Given the description of an element on the screen output the (x, y) to click on. 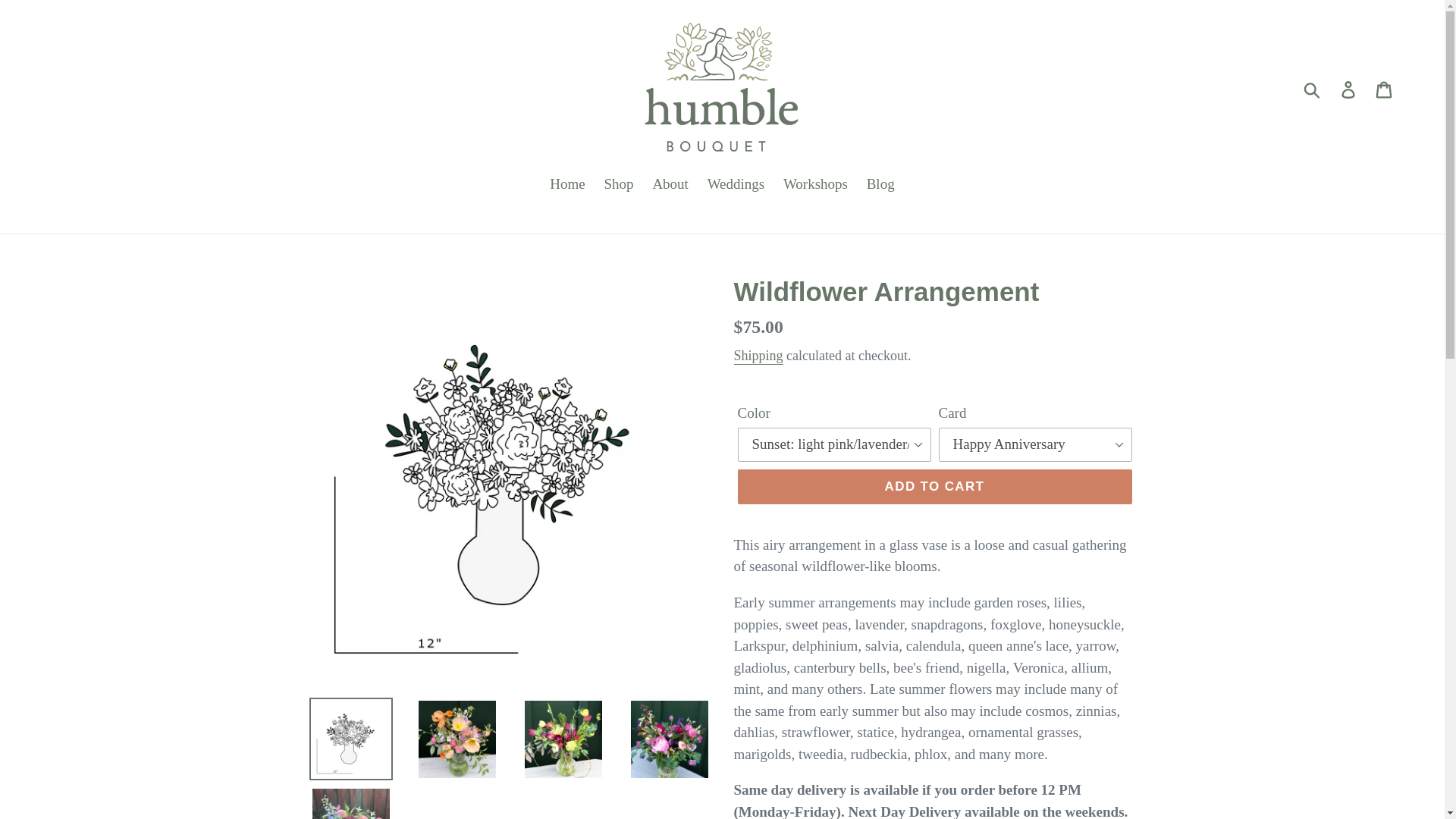
Weddings (736, 185)
Blog (880, 185)
About (670, 185)
Shipping (758, 356)
Workshops (816, 185)
Shop (619, 185)
ADD TO CART (933, 486)
Cart (1385, 88)
Log in (1349, 88)
Submit (1313, 89)
